Given the description of an element on the screen output the (x, y) to click on. 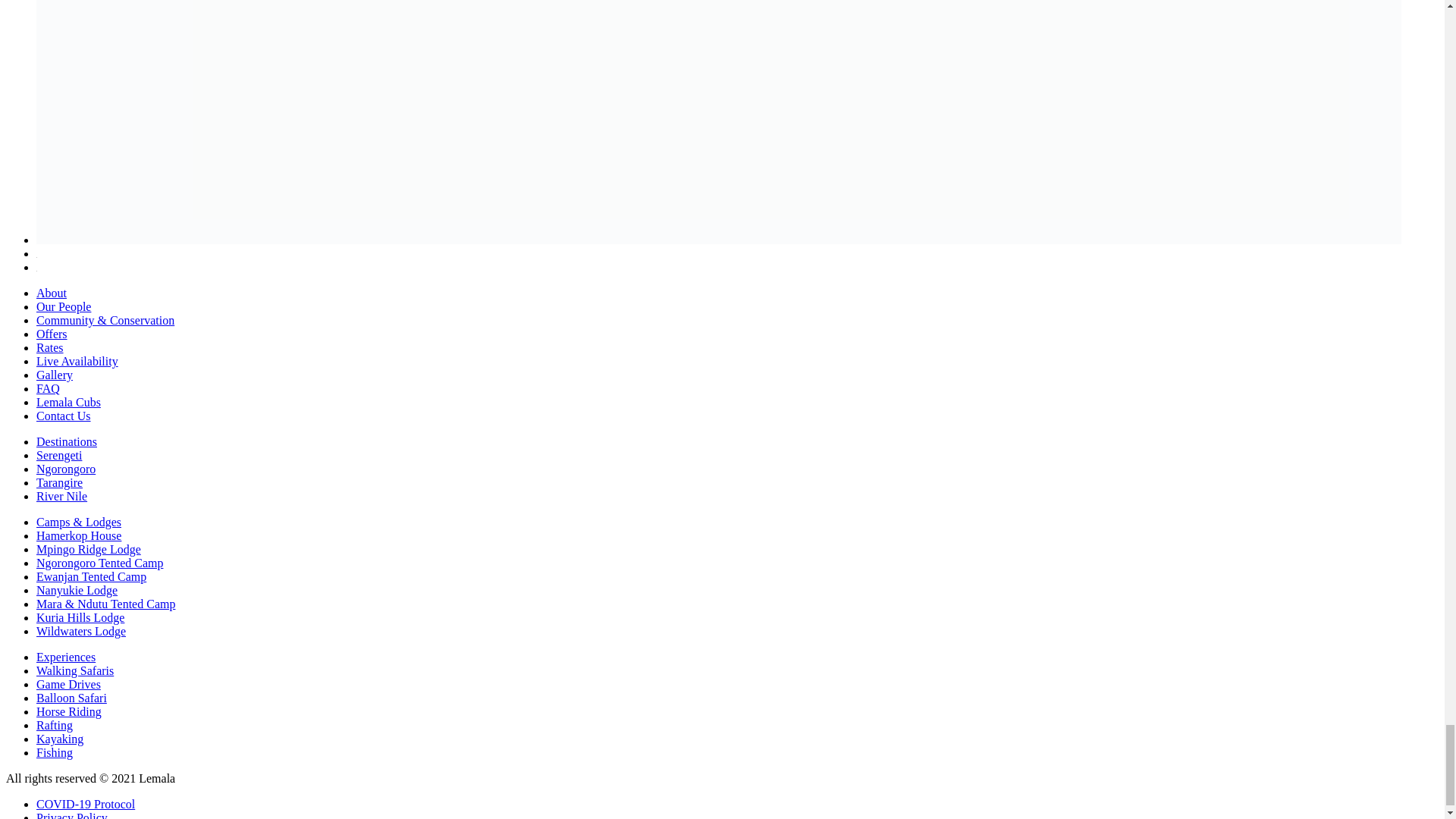
Our People (63, 306)
About (51, 292)
Gallery (54, 374)
Rates (50, 347)
Live Availability (76, 360)
FAQ (47, 388)
Offers (51, 333)
